Given the description of an element on the screen output the (x, y) to click on. 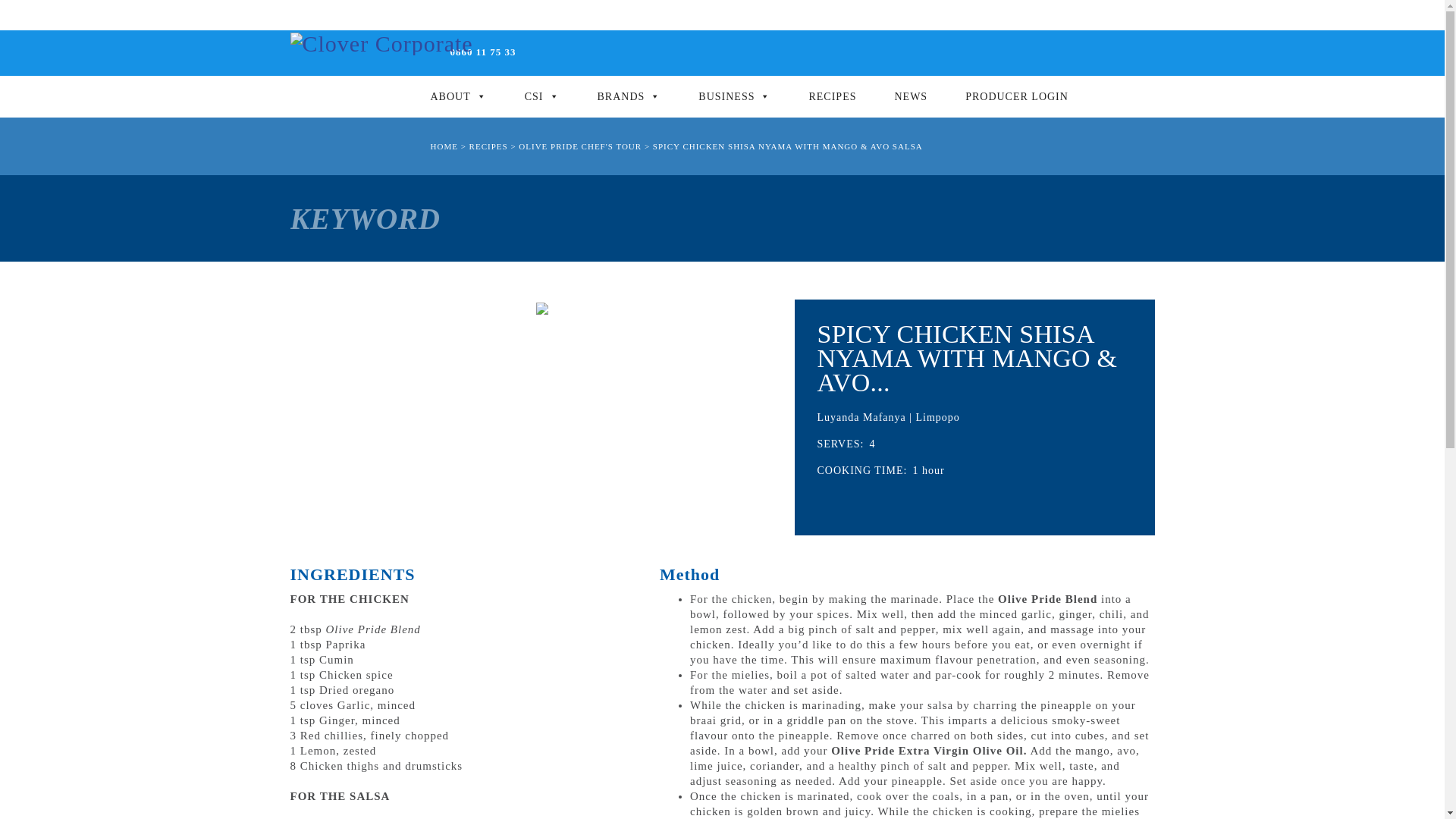
0860 11 75 33 (482, 51)
BRANDS (628, 96)
Clover Corporate (380, 42)
Go to Clover Corporate. (444, 145)
Clover Corporate (380, 43)
ABOUT (458, 96)
Go to the Olive Pride Chef's Tour Recipe Category archives. (580, 145)
Go to Recipes. (488, 145)
